Given the description of an element on the screen output the (x, y) to click on. 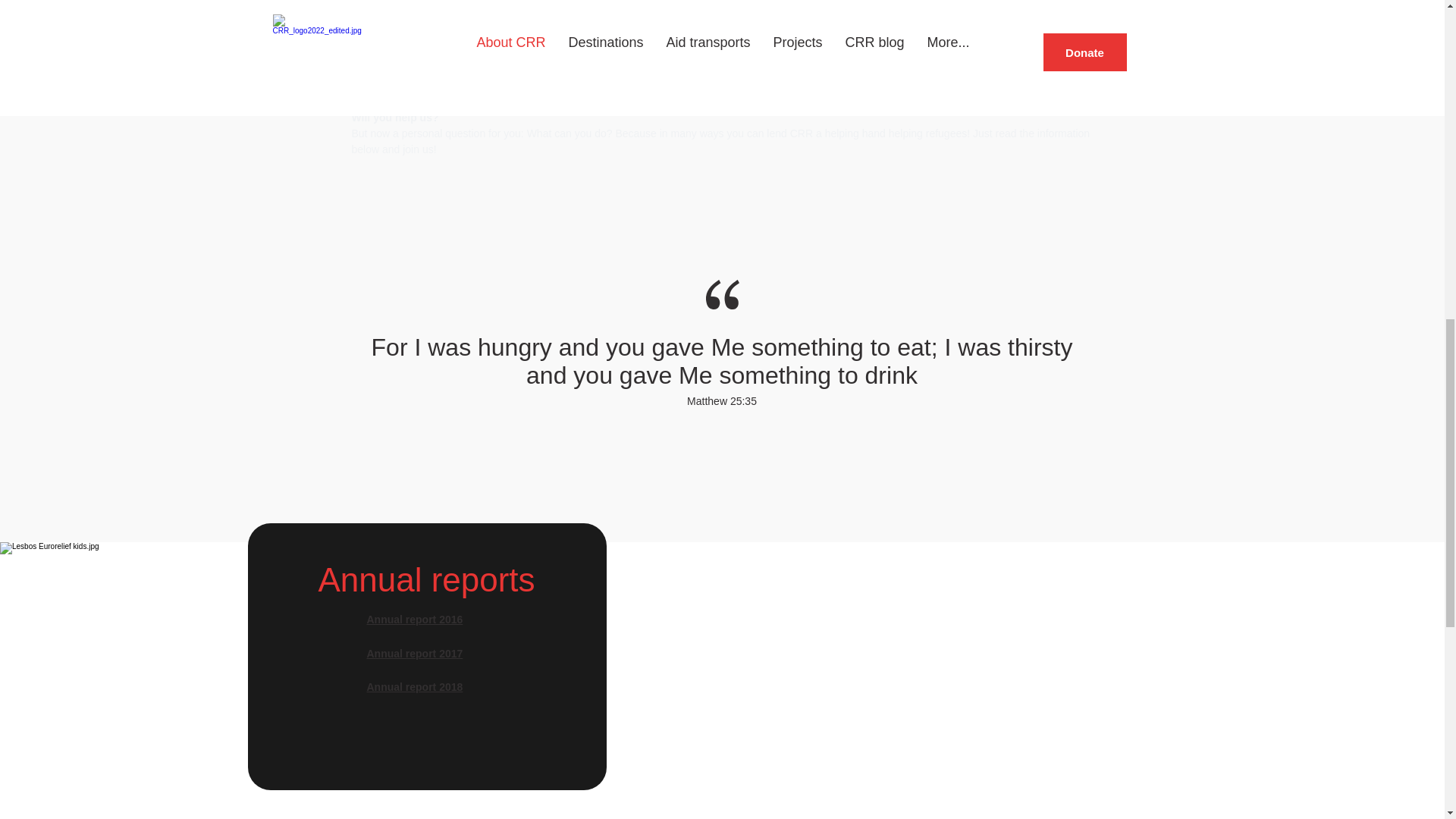
Special projects (869, 53)
Annual report 2016 (414, 619)
Annual report 2018 (414, 686)
Annual report 2017 (414, 653)
